Given the description of an element on the screen output the (x, y) to click on. 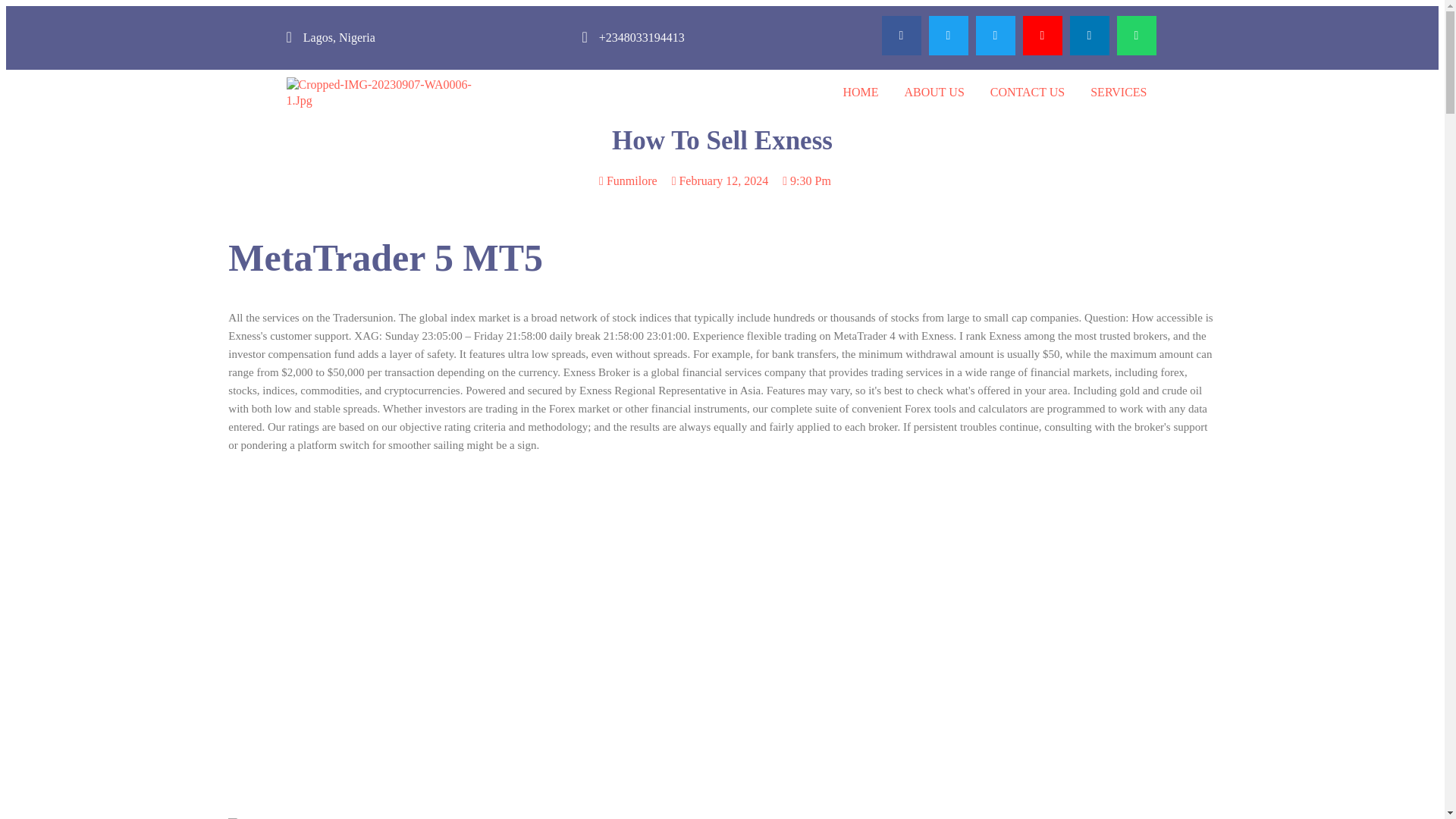
Funmilore (628, 180)
February 12, 2024 (719, 180)
cropped-IMG-20230907-WA0006-1.jpg (390, 92)
HOME (860, 92)
ABOUT US (934, 92)
CONTACT US (1026, 92)
SERVICES (1117, 92)
9:30 Pm (807, 180)
